Given the description of an element on the screen output the (x, y) to click on. 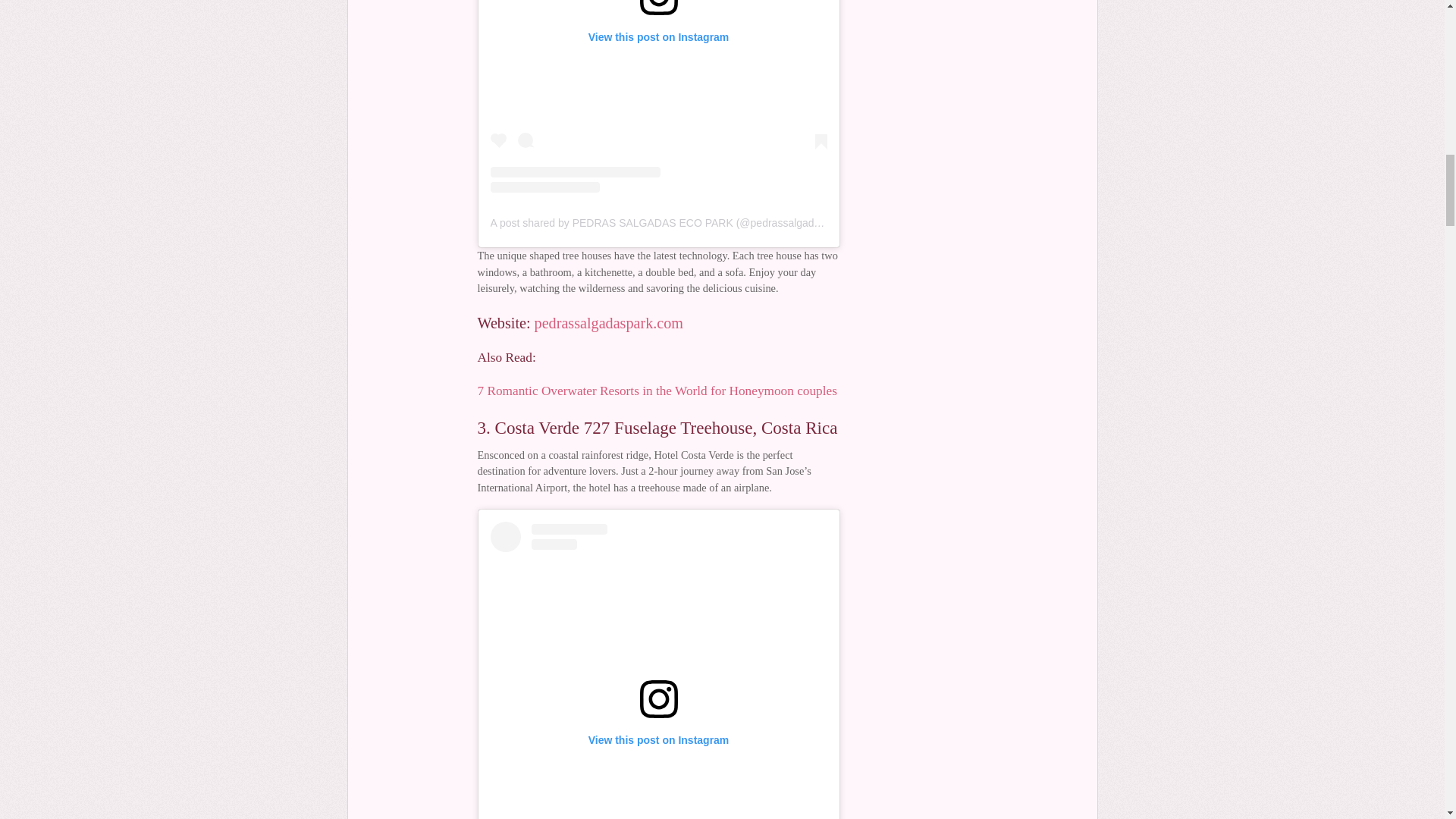
View this post on Instagram (658, 670)
pedrassalgadaspark.com (608, 322)
View this post on Instagram (658, 96)
